Given the description of an element on the screen output the (x, y) to click on. 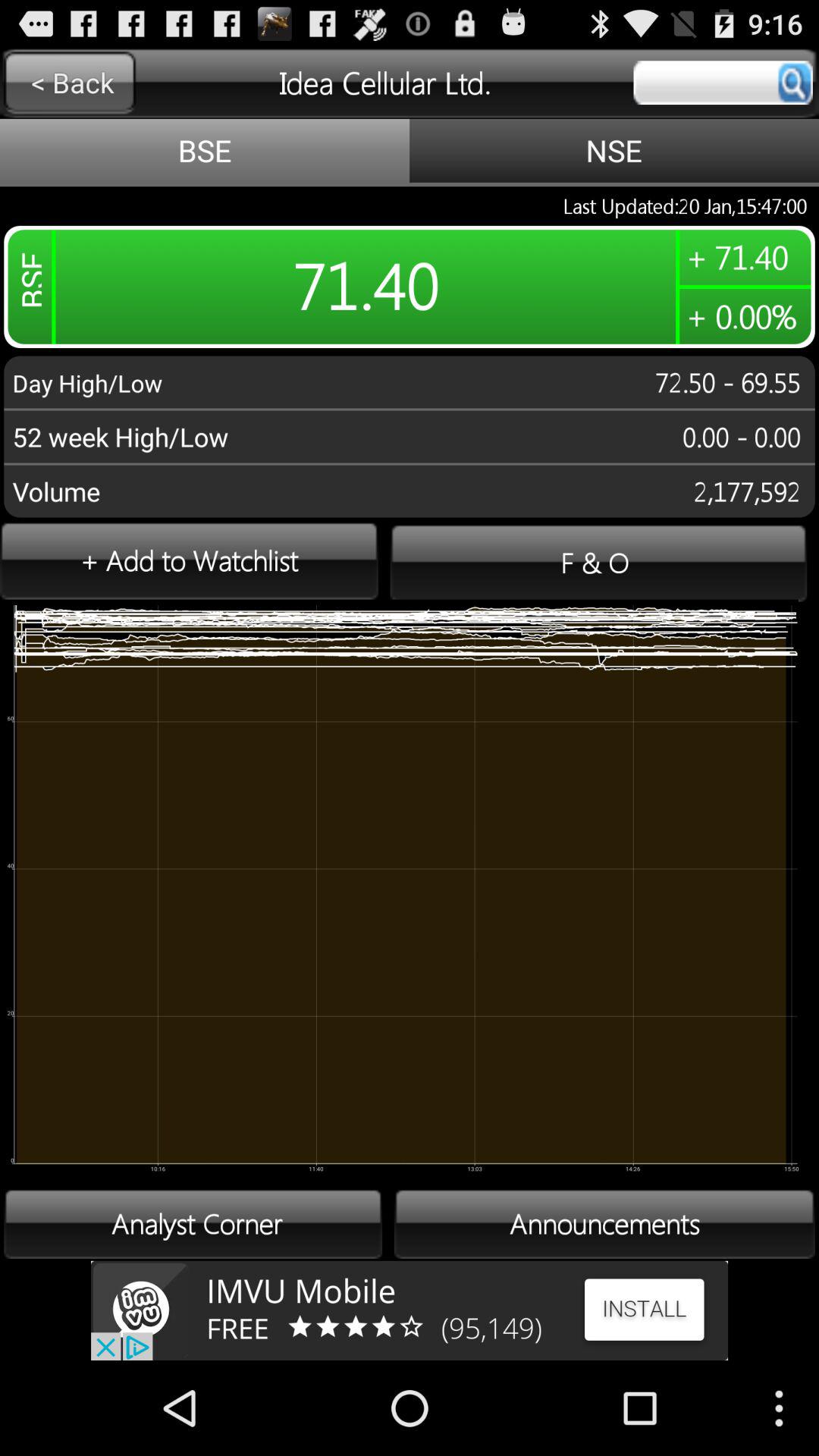
search (722, 82)
